Given the description of an element on the screen output the (x, y) to click on. 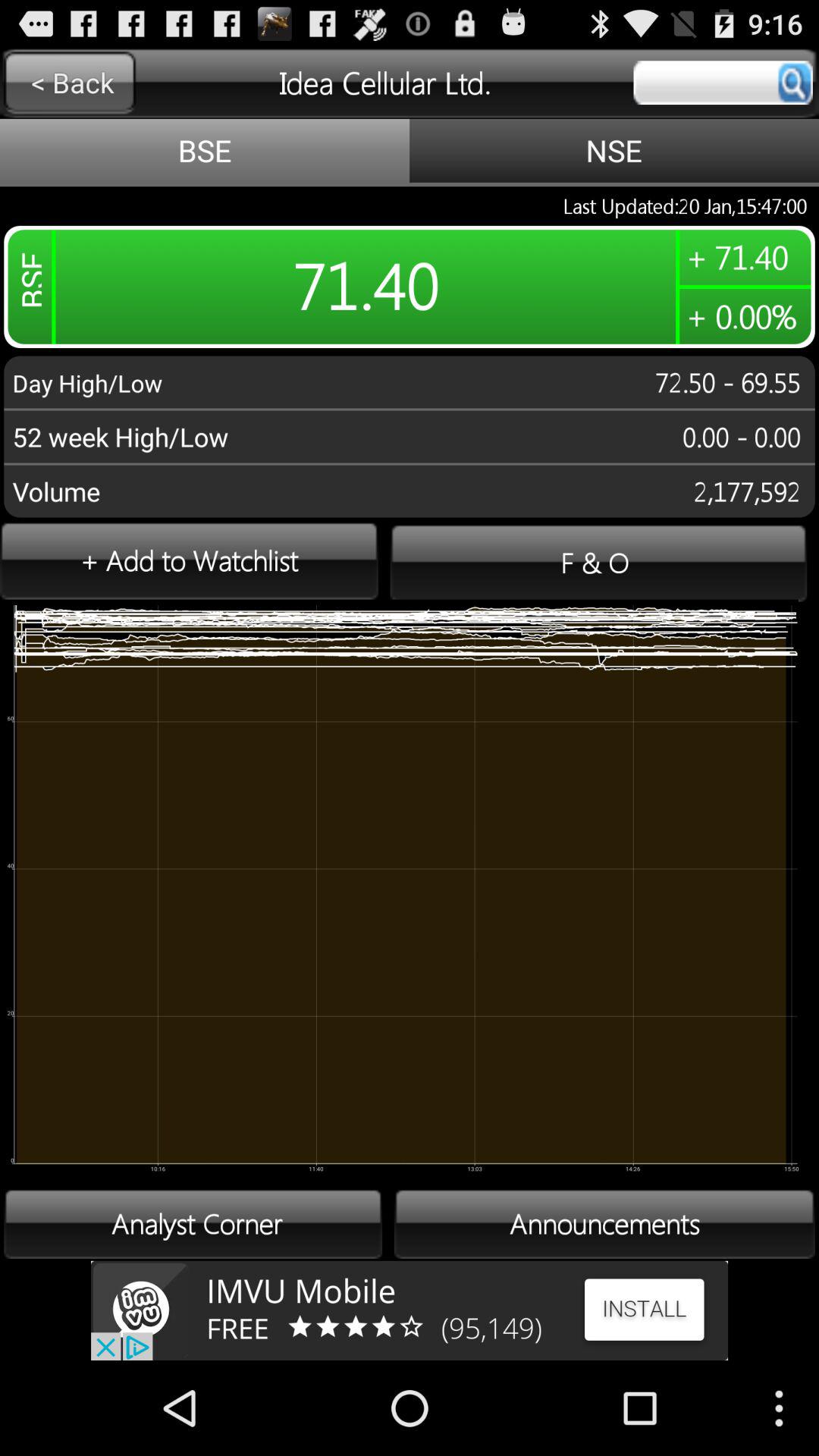
search (722, 82)
